Given the description of an element on the screen output the (x, y) to click on. 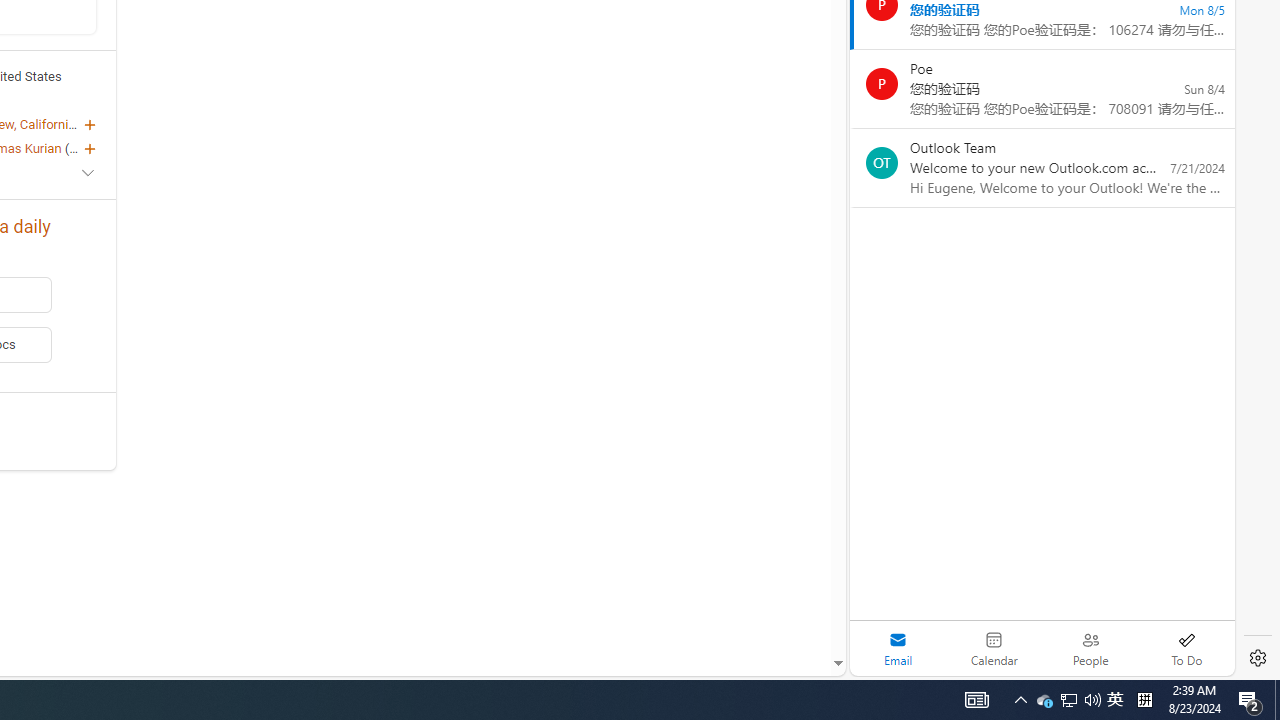
CEO (81, 147)
Selected mail module (898, 648)
People (1090, 648)
AutomationID: mfa_root (762, 603)
Calendar. Date today is 22 (994, 648)
To Do (1186, 648)
Settings (1258, 658)
Search more (792, 604)
